Given the description of an element on the screen output the (x, y) to click on. 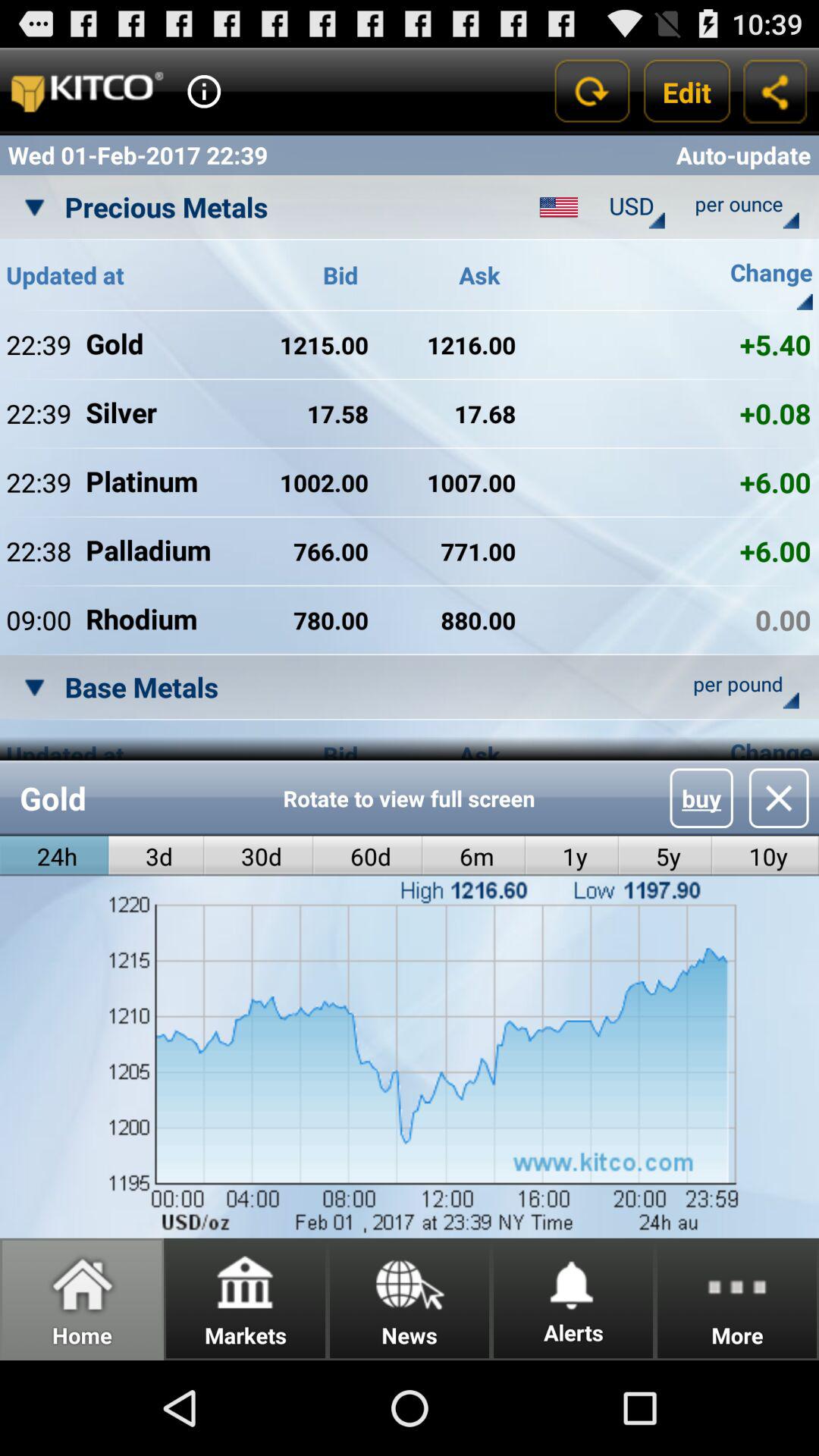
turn off 6m item (473, 856)
